Given the description of an element on the screen output the (x, y) to click on. 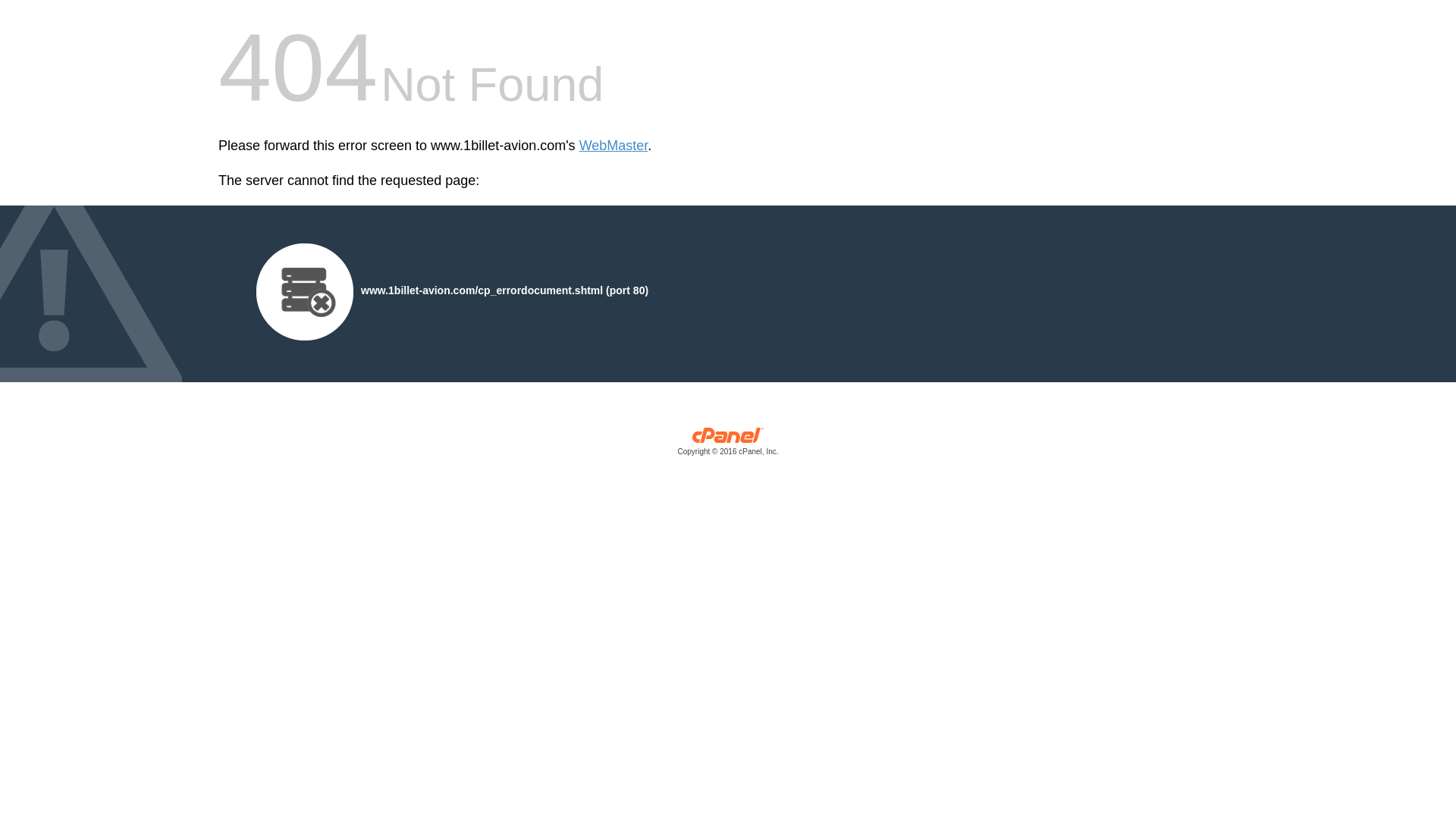
WebMaster Element type: text (613, 145)
